Given the description of an element on the screen output the (x, y) to click on. 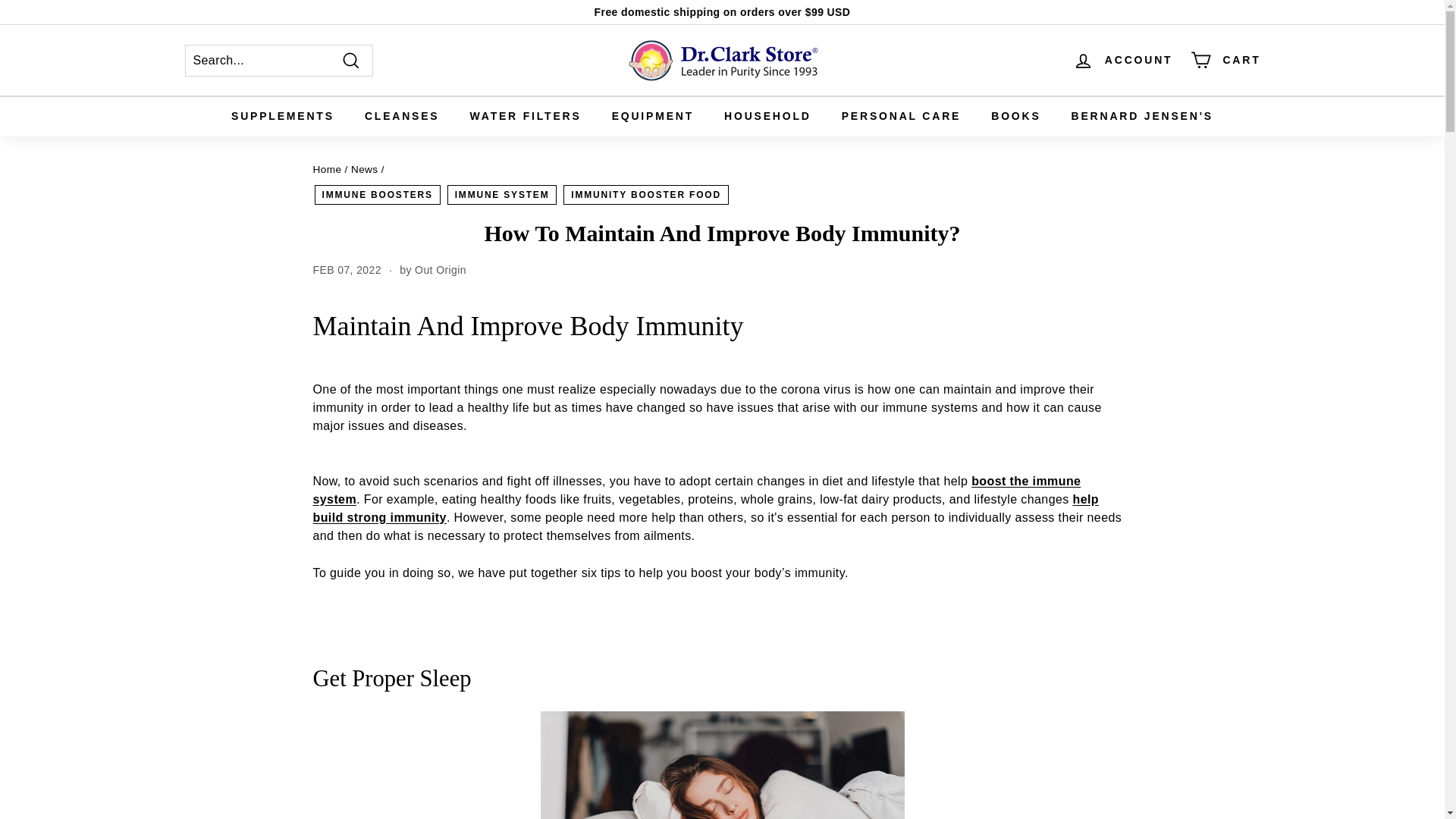
ACCOUNT (1123, 59)
Back to the frontpage (326, 169)
HOUSEHOLD (768, 116)
WATER FILTERS (525, 116)
EQUIPMENT (652, 116)
PERSONAL CARE (901, 116)
CLEANSES (401, 116)
SUPPLEMENTS (282, 116)
